Given the description of an element on the screen output the (x, y) to click on. 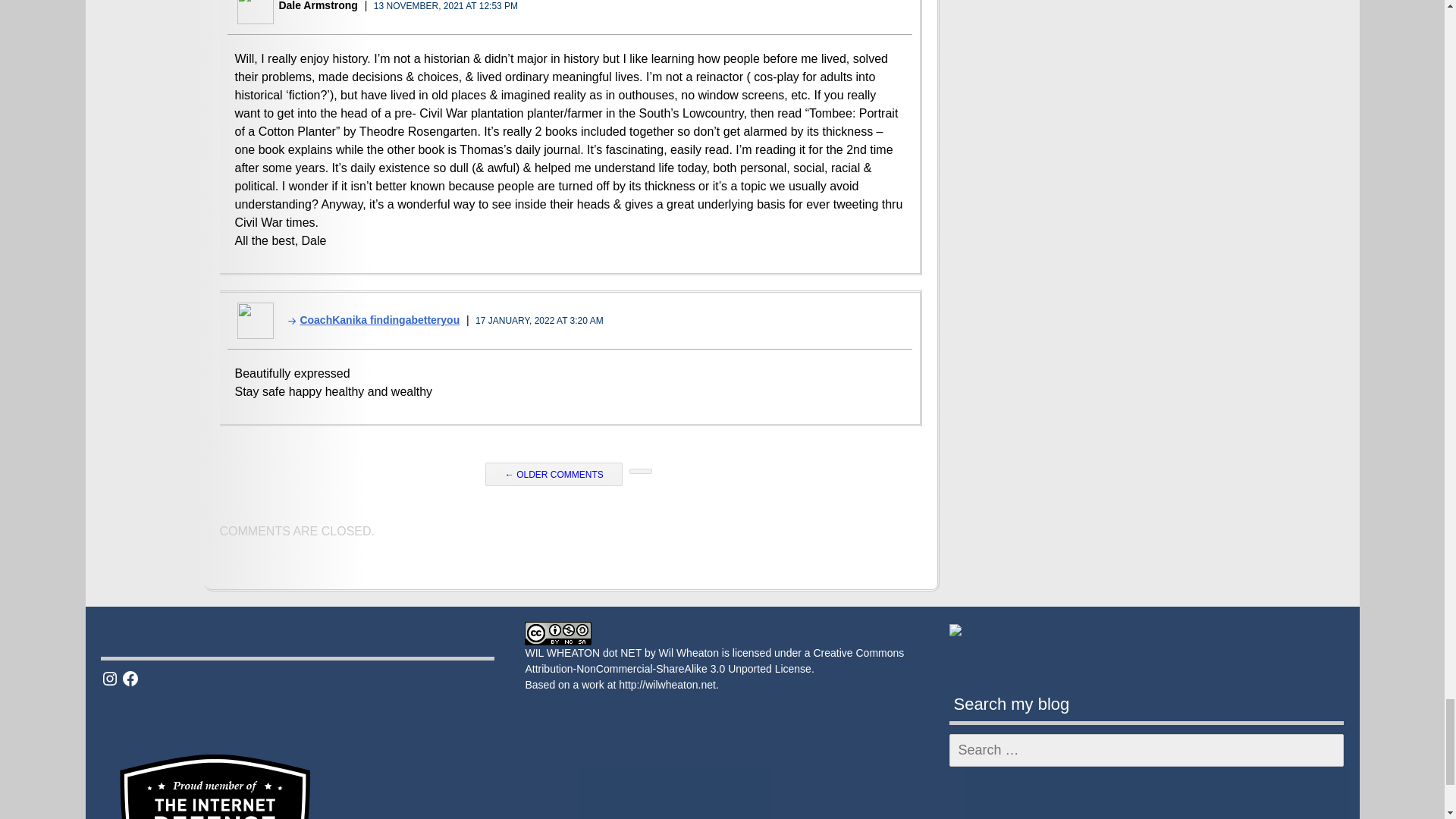
13 NOVEMBER, 2021 AT 12:53 PM (446, 5)
Instagram (108, 678)
Wil Wheaton (689, 653)
17 JANUARY, 2022 AT 3:20 AM (540, 320)
Facebook (129, 678)
CoachKanika findingabetteryou (369, 319)
